Given the description of an element on the screen output the (x, y) to click on. 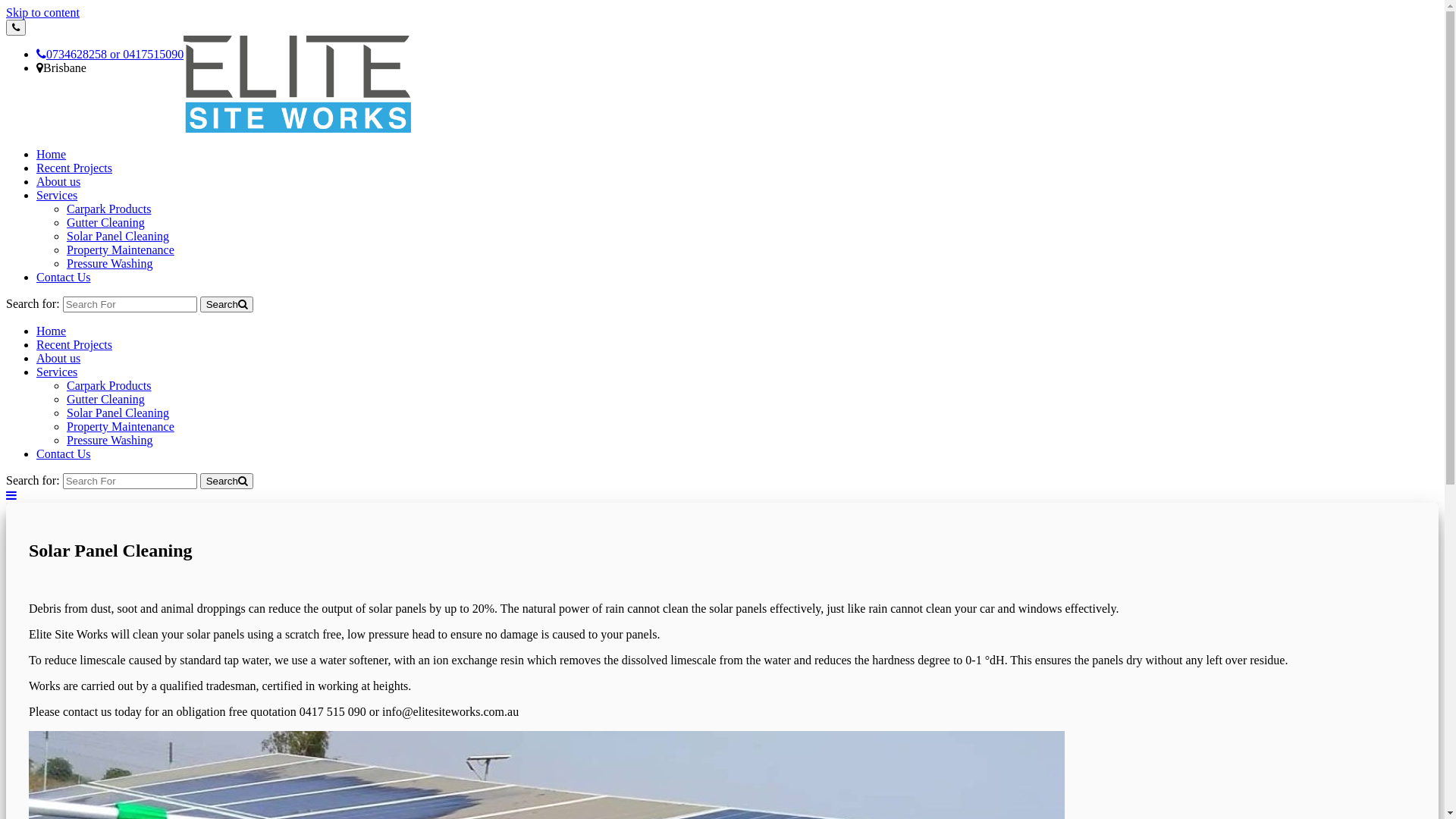
Recent Projects Element type: text (74, 167)
Gutter Cleaning Element type: text (105, 222)
Contact Us Element type: text (63, 453)
Gutter Cleaning Element type: text (105, 398)
Search Element type: text (226, 481)
About us Element type: text (58, 181)
Services Element type: text (56, 194)
Solar Panel Cleaning Element type: text (117, 412)
Pressure Washing Element type: text (109, 263)
0734628258 or 0417515090 Element type: text (109, 53)
Solar Panel Cleaning Element type: text (117, 235)
Carpark Products Element type: text (108, 385)
Elite Site Works Element type: text (90, 164)
Property Maintenance Element type: text (120, 426)
Property Maintenance Element type: text (120, 249)
Home Element type: text (50, 330)
Recent Projects Element type: text (74, 344)
Search Element type: text (226, 304)
Services Element type: text (56, 371)
Skip to content Element type: text (42, 12)
Home Element type: text (50, 153)
Elite Site Works Element type: text (68, 349)
Pressure Washing Element type: text (109, 439)
Carpark Products Element type: text (108, 208)
Contact Us Element type: text (63, 276)
About us Element type: text (58, 357)
